Given the description of an element on the screen output the (x, y) to click on. 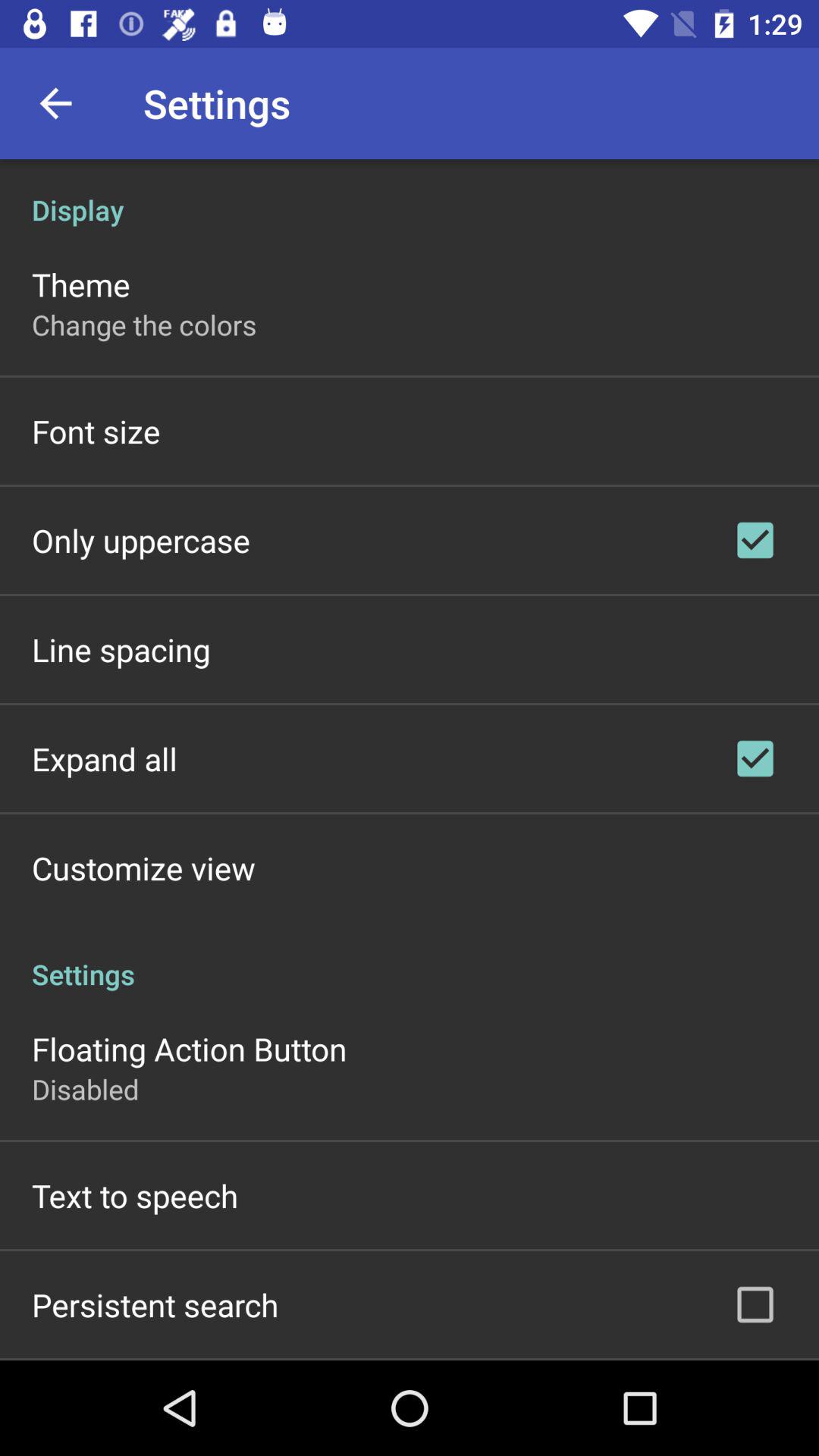
flip to the change the colors item (143, 324)
